Given the description of an element on the screen output the (x, y) to click on. 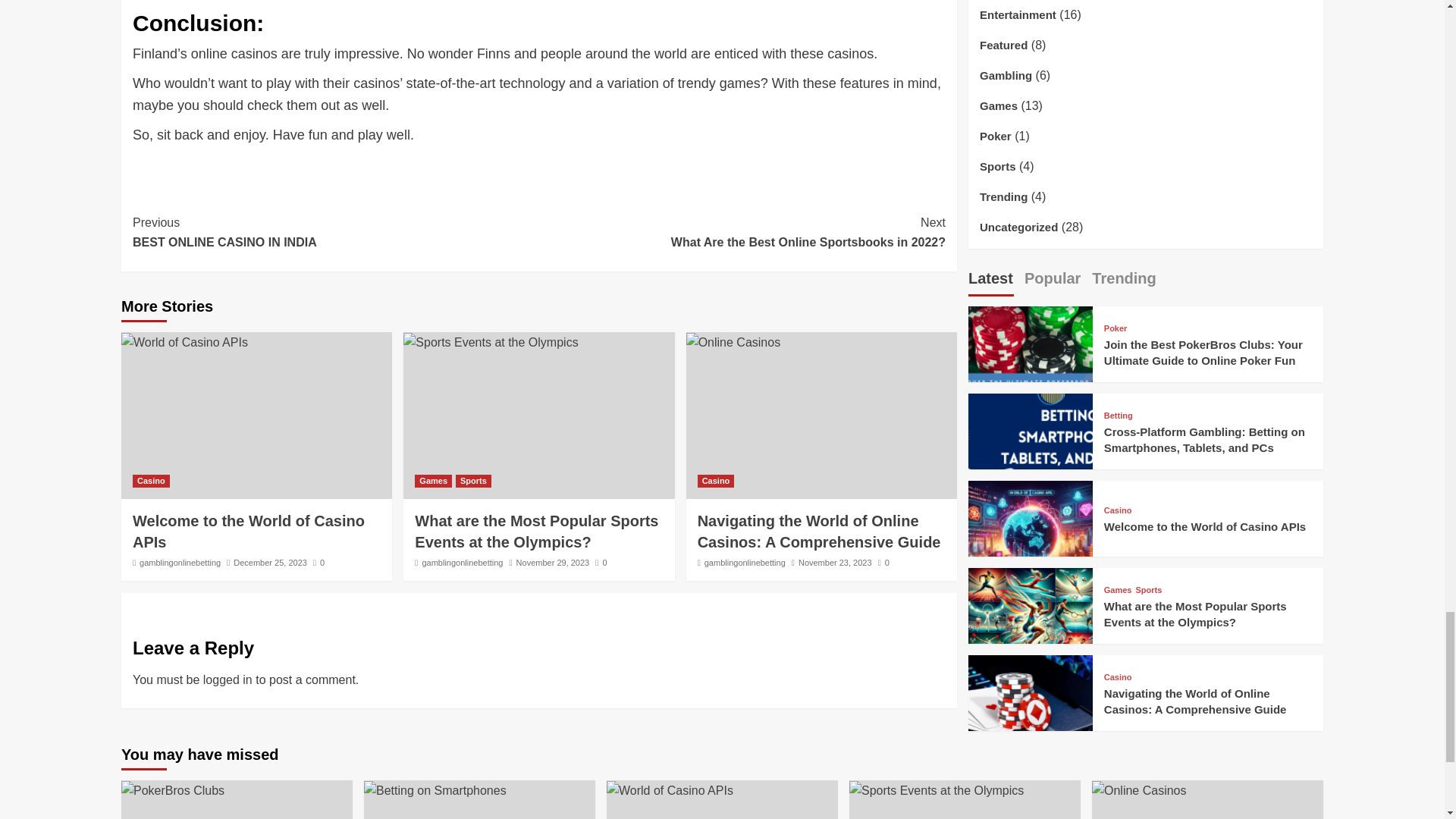
Welcome to the World of Casino APIs (248, 531)
Casino (151, 481)
gamblingonlinebetting (741, 231)
